Given the description of an element on the screen output the (x, y) to click on. 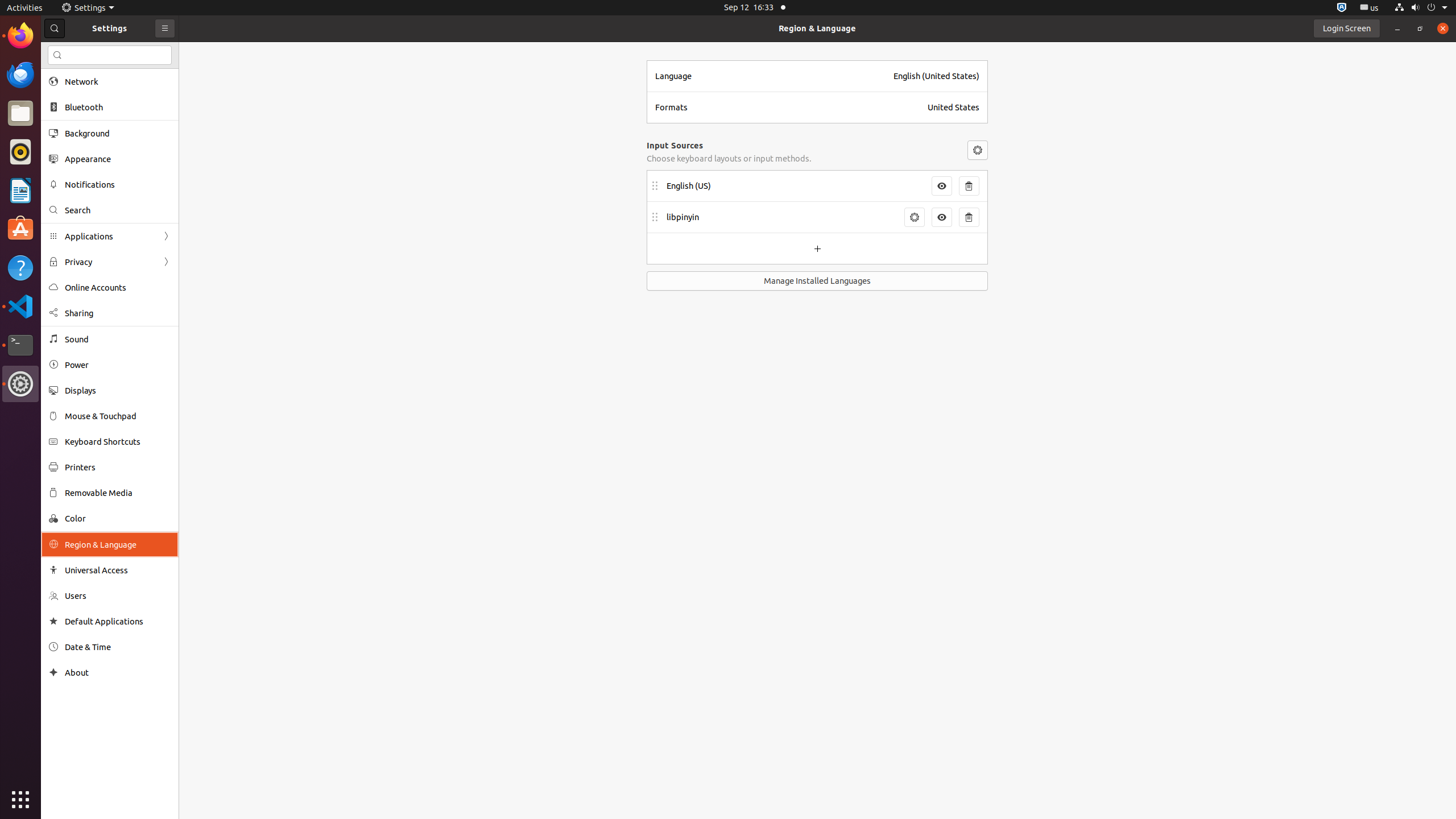
Manage Installed Languages Element type: push-button (816, 280)
Input Sources Element type: label (674, 145)
English (United States) Element type: label (936, 75)
